Given the description of an element on the screen output the (x, y) to click on. 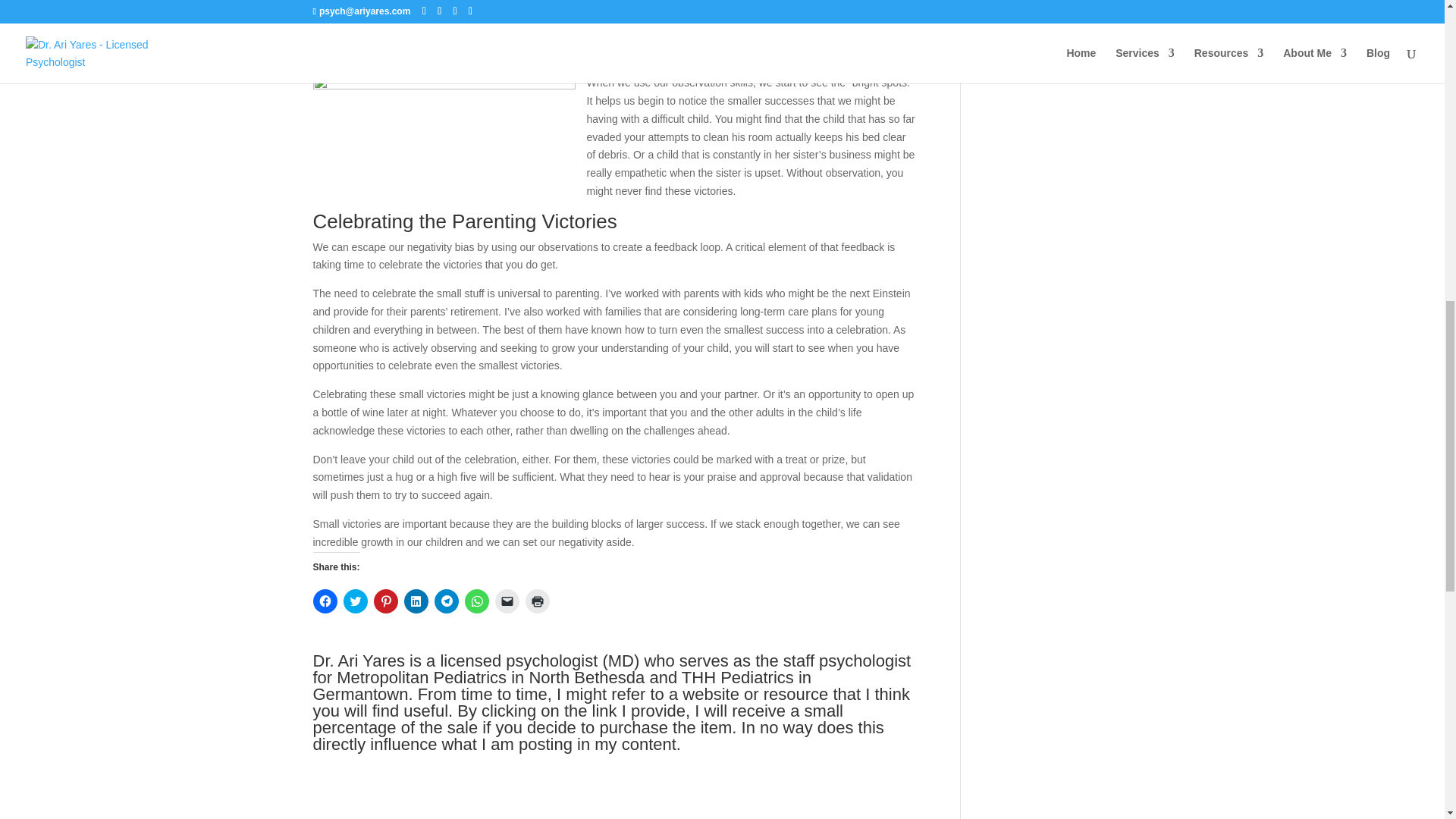
Click to email a link to a friend (506, 600)
Click to share on Twitter (354, 600)
Click to print (536, 600)
Click to share on Facebook (324, 600)
Click to share on Telegram (445, 600)
Click to share on LinkedIn (415, 600)
Click to share on Pinterest (384, 600)
Click to share on WhatsApp (475, 600)
